Given the description of an element on the screen output the (x, y) to click on. 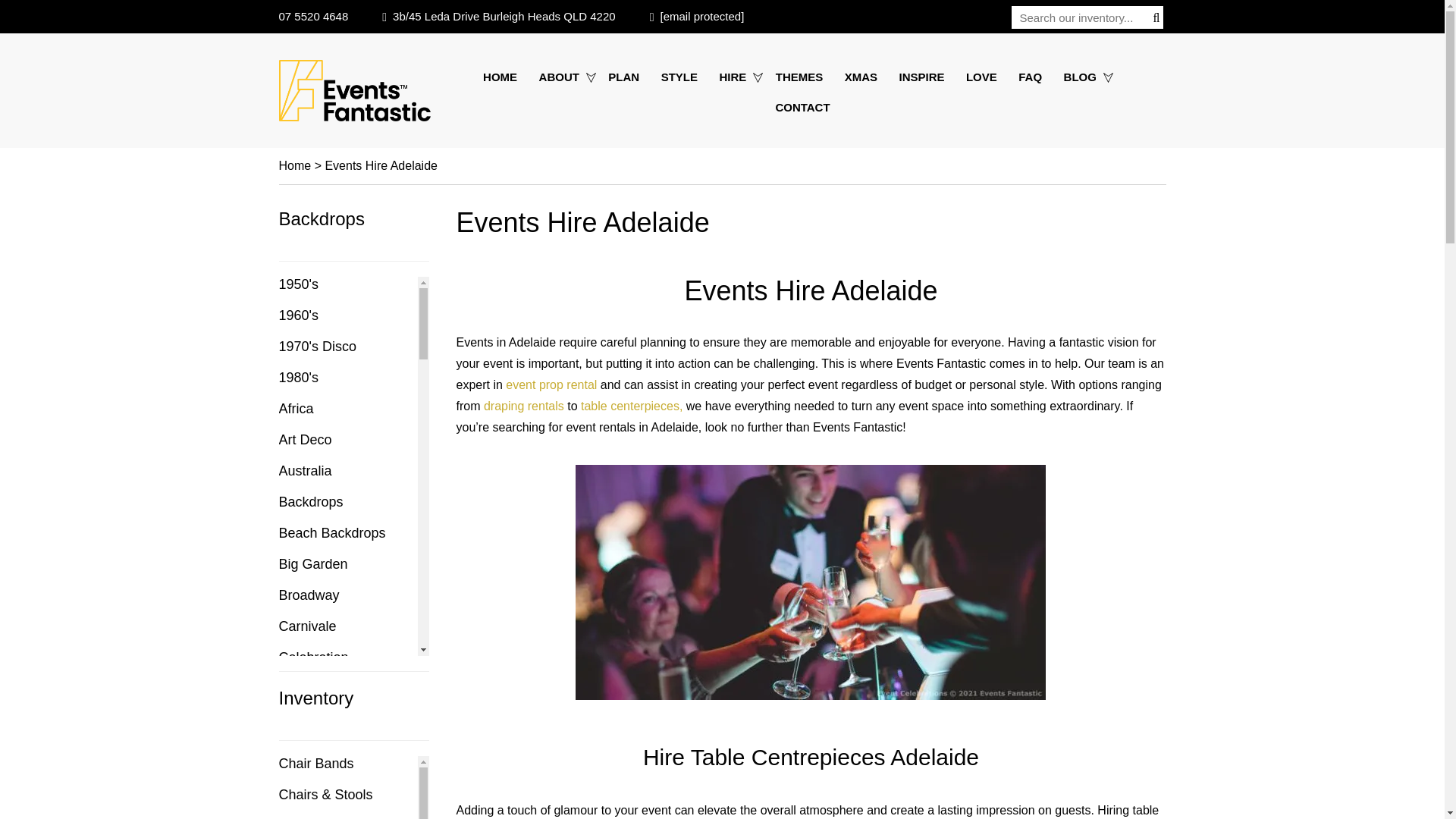
STYLE (679, 77)
Home (504, 77)
Hire (736, 77)
Style (679, 77)
Plan (622, 77)
HOME (504, 77)
ABOUT (562, 77)
07 5520 4648 (314, 15)
PLAN (622, 77)
ABOUT (562, 77)
HIRE (736, 77)
